Given the description of an element on the screen output the (x, y) to click on. 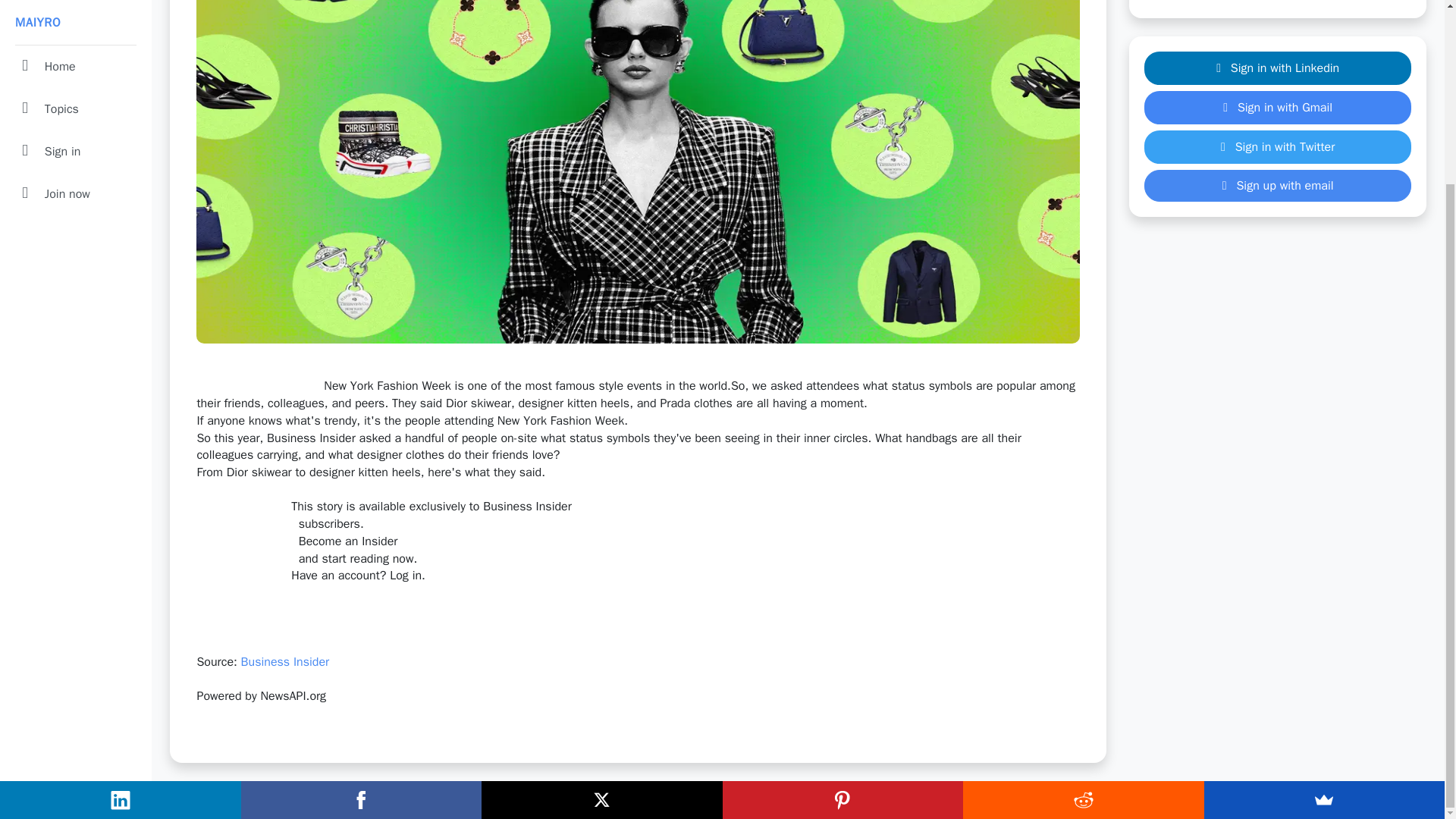
Sign up with email (1277, 185)
Sign in with Gmail (1277, 107)
Pinterest (842, 572)
X (601, 572)
Reddit (1083, 572)
Sign in with Linkedin (1277, 68)
Business Insider (285, 661)
Facebook (361, 572)
Sign in with Twitter (1277, 146)
LinkedIn (120, 573)
